Given the description of an element on the screen output the (x, y) to click on. 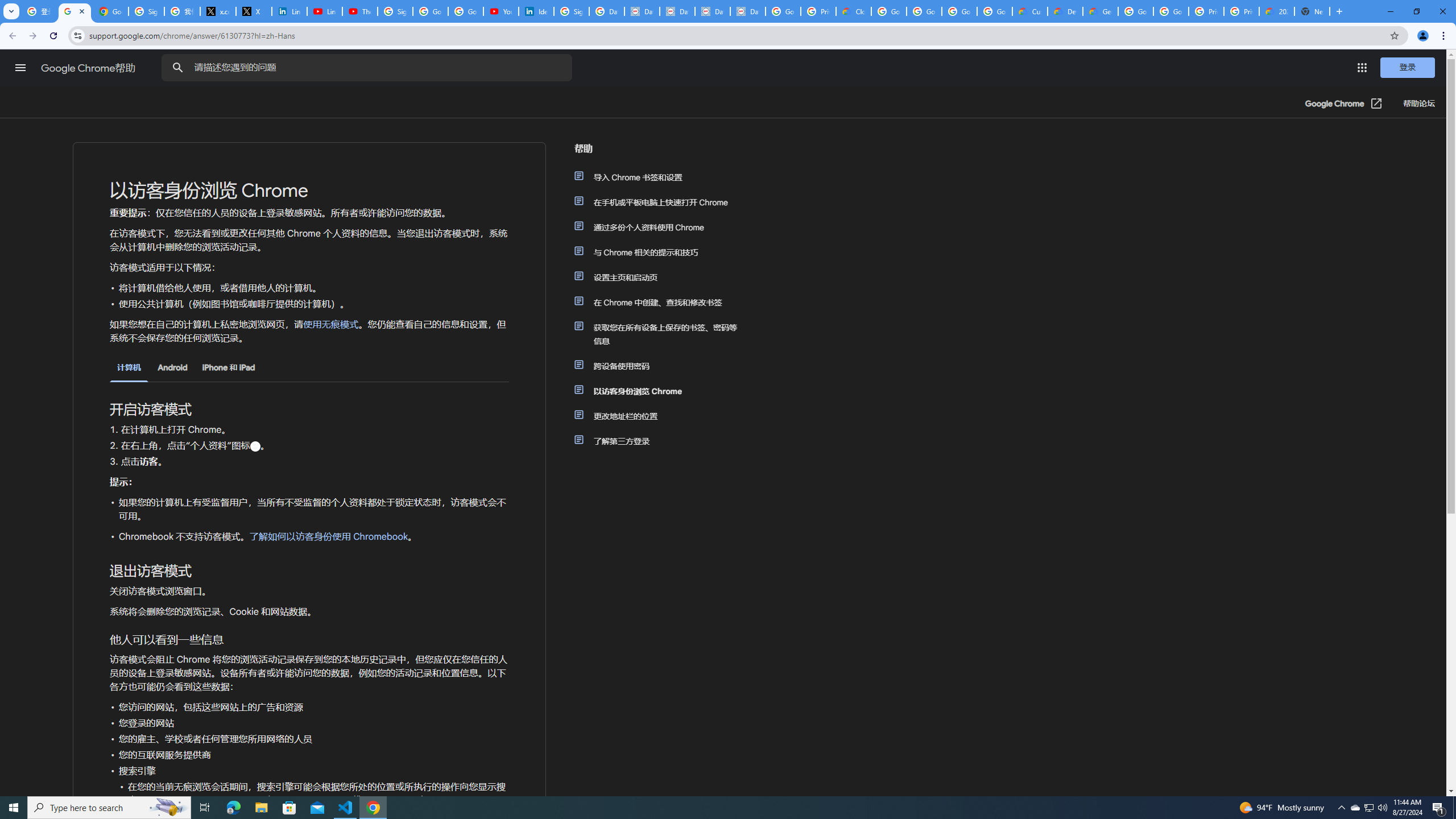
Data Privacy Framework (712, 11)
Google Workspace - Specific Terms (959, 11)
Data Privacy Framework (677, 11)
Data Privacy Framework (641, 11)
Google Workspace - Specific Terms (994, 11)
